Given the description of an element on the screen output the (x, y) to click on. 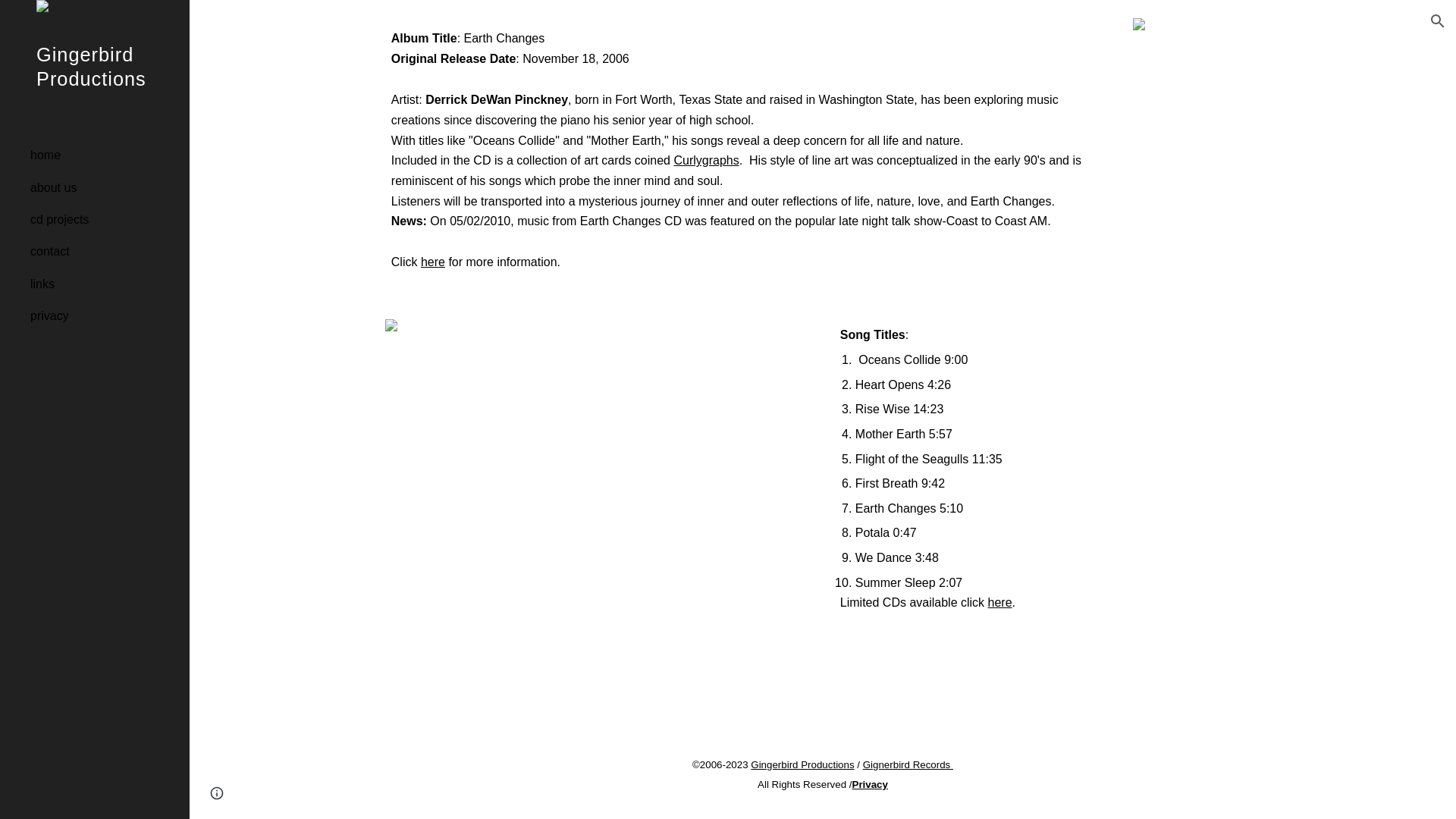
Gignerbird Records  (908, 763)
Privacy (869, 783)
here (430, 261)
cd projects (103, 219)
here (999, 602)
links (103, 283)
about us (103, 187)
Curlygraphs (704, 160)
Gingerbird Productions (801, 763)
Gingerbird Productions (94, 86)
contact (103, 251)
home (103, 155)
privacy (103, 316)
